Given the description of an element on the screen output the (x, y) to click on. 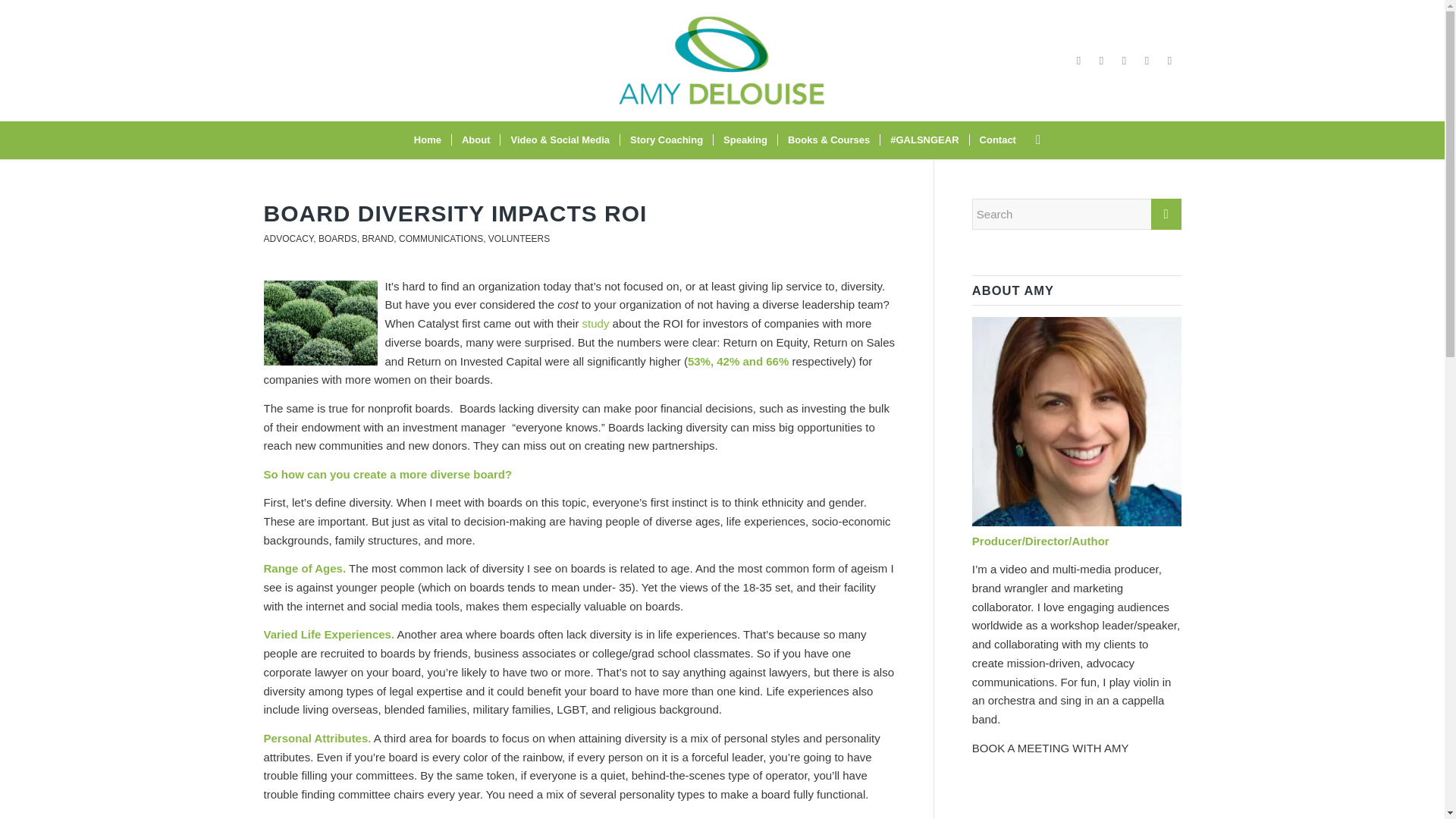
BOOK A MEETING WITH AMY (1050, 748)
LinkedIn (1169, 60)
Home (427, 139)
Permanent Link: Board Diversity Impacts ROI (455, 213)
BRAND (377, 238)
Speaking (745, 139)
ADVOCACY (288, 238)
BOARD DIVERSITY IMPACTS ROI (455, 213)
Instagram (1101, 60)
VOLUNTEERS (518, 238)
Facebook (1078, 60)
X (1146, 60)
study (596, 323)
About (475, 139)
BOARDS (337, 238)
